Given the description of an element on the screen output the (x, y) to click on. 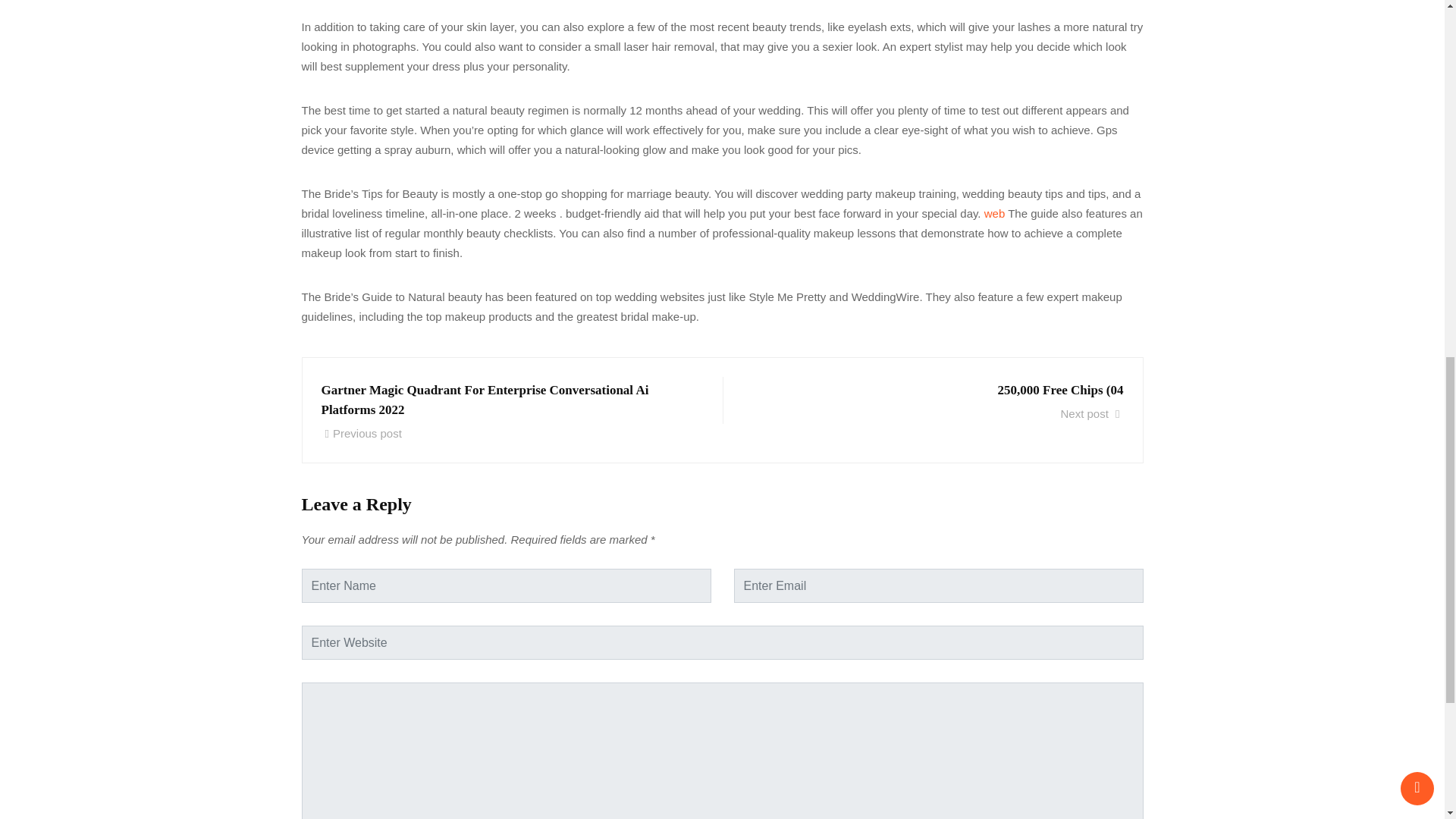
web (995, 212)
